Given the description of an element on the screen output the (x, y) to click on. 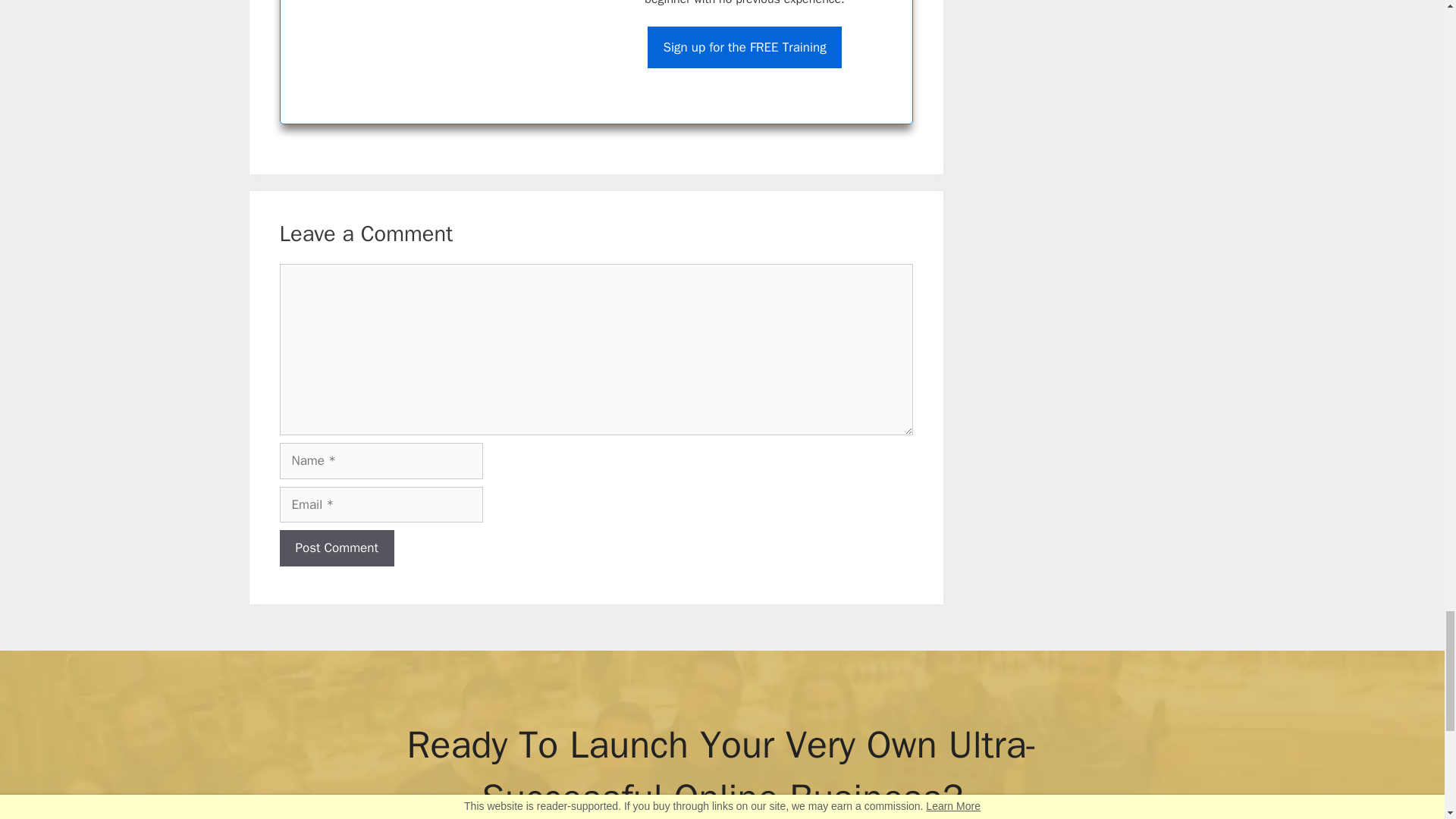
Post Comment (336, 547)
Post Comment (336, 547)
Sign up for the FREE Training (744, 47)
